Given the description of an element on the screen output the (x, y) to click on. 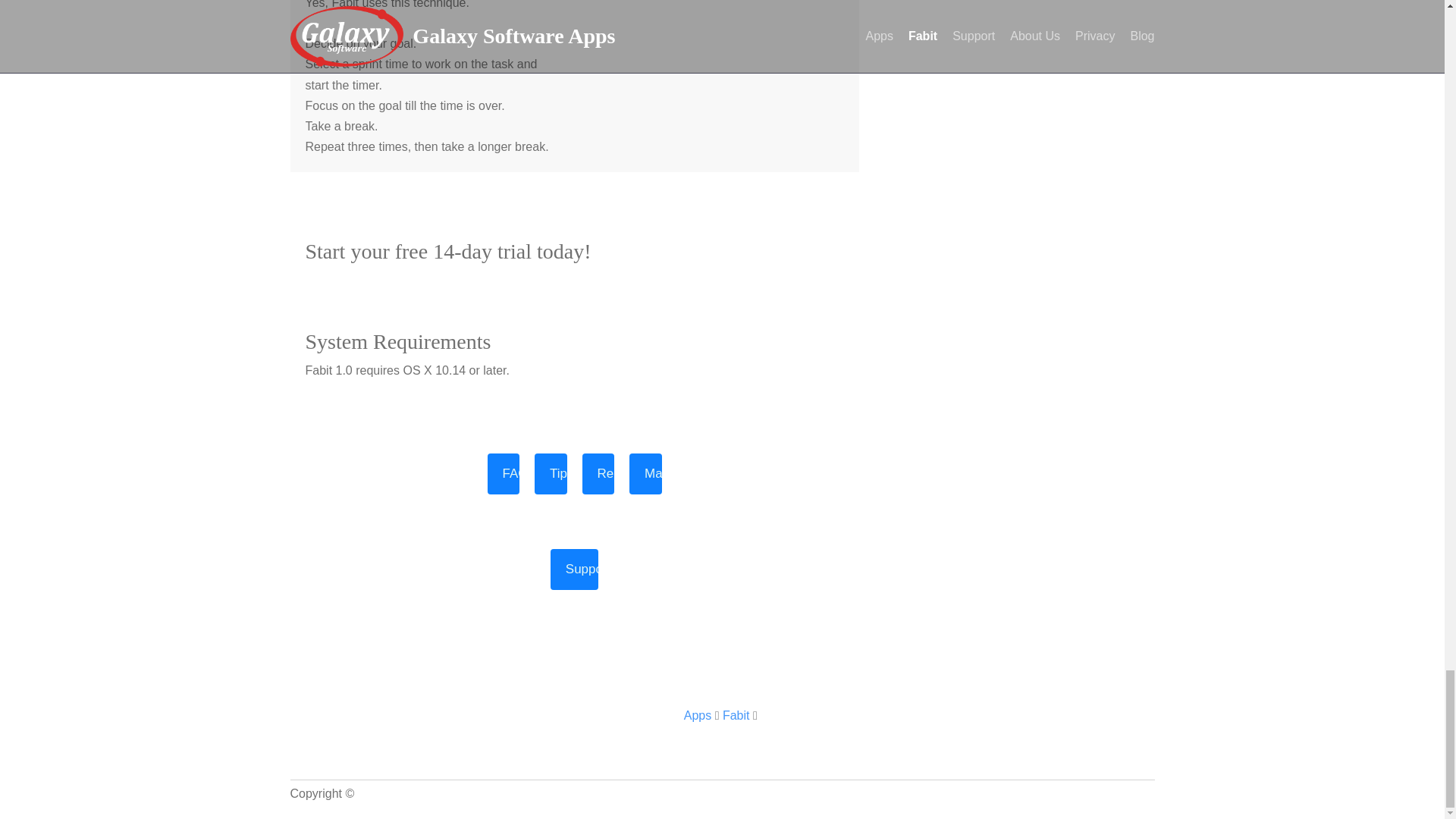
Support (574, 568)
Fabit (735, 715)
Apps (697, 715)
Support (574, 568)
